Given the description of an element on the screen output the (x, y) to click on. 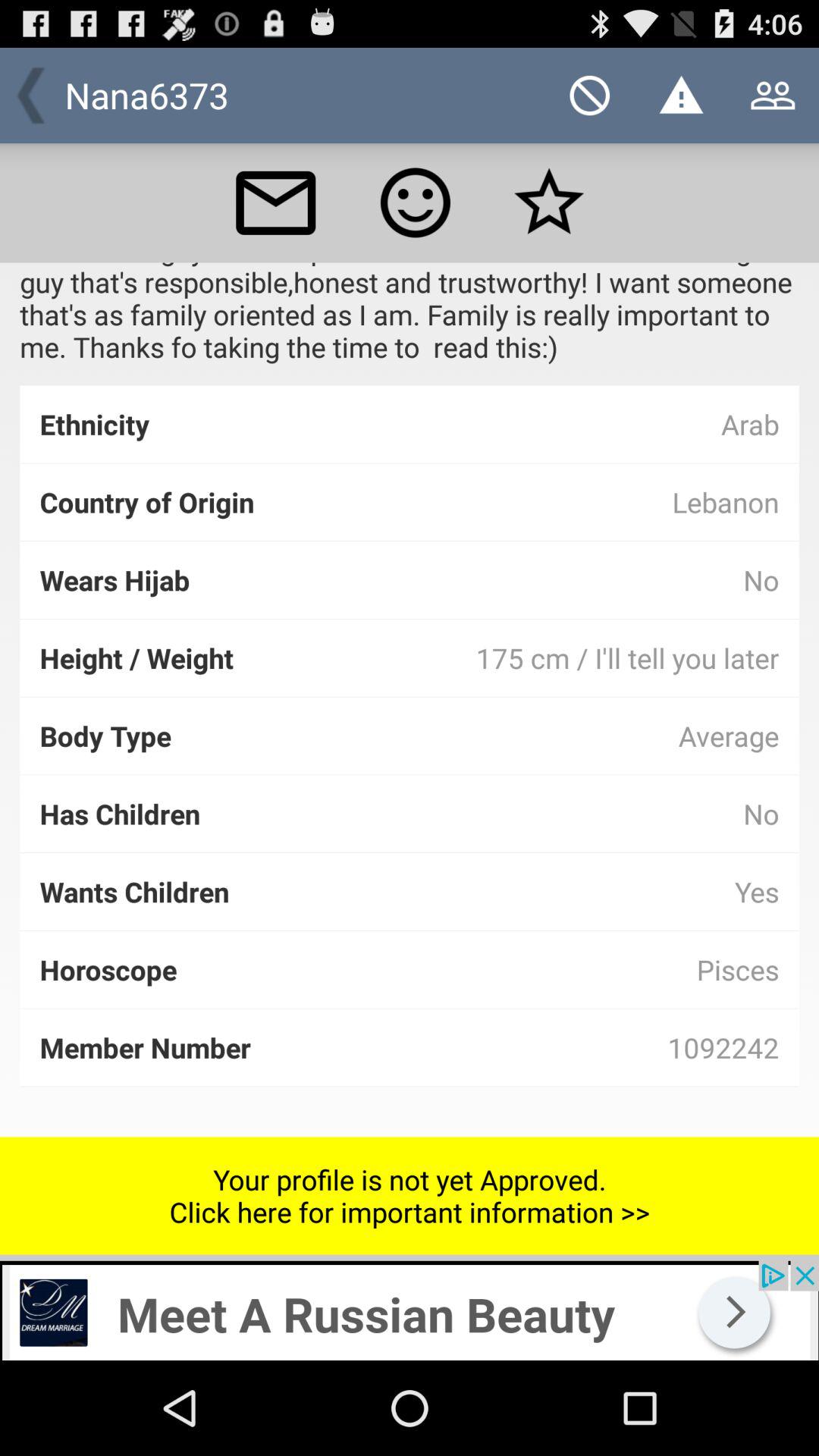
set as favorite (548, 202)
